Given the description of an element on the screen output the (x, y) to click on. 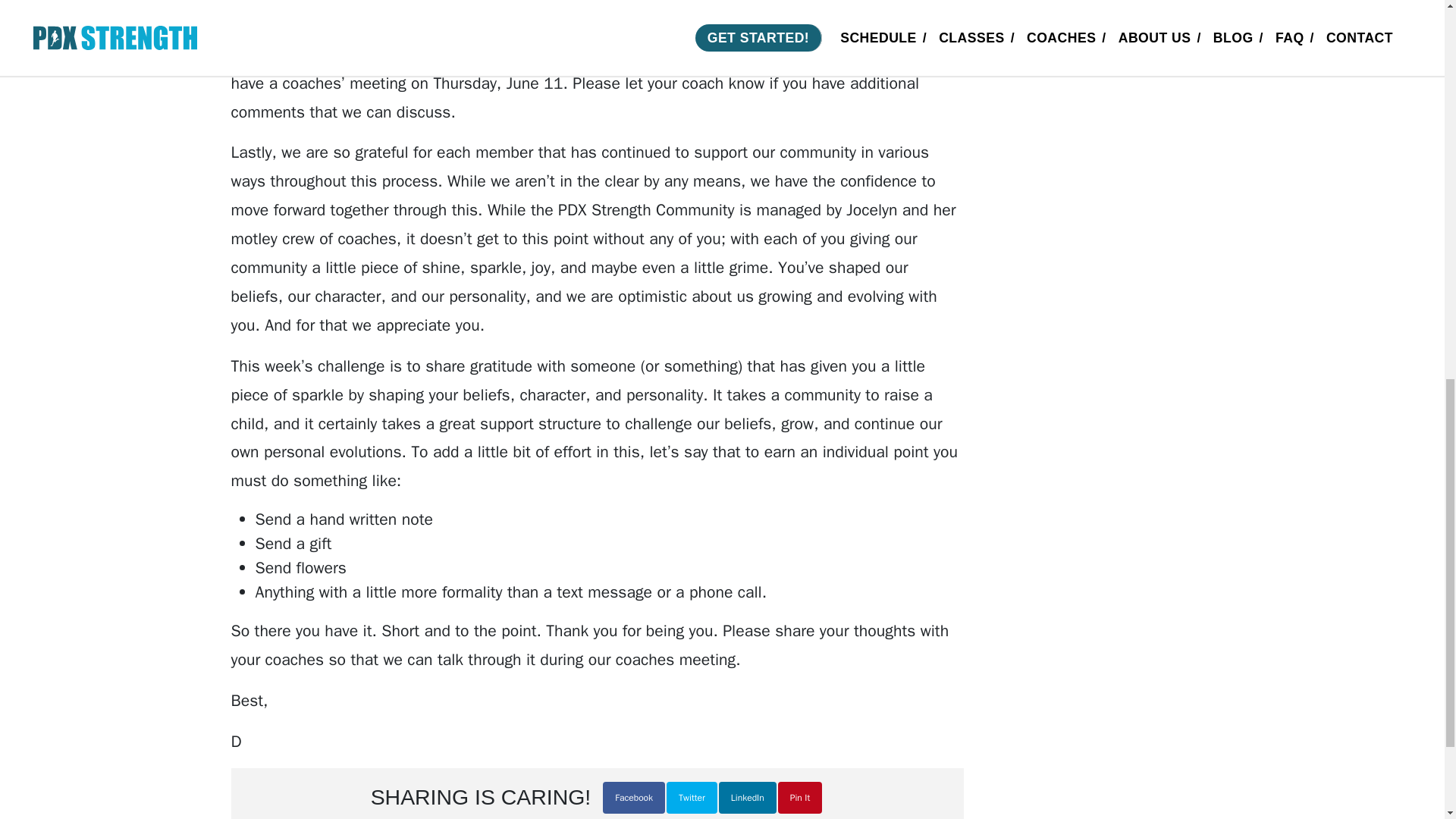
Facebook (633, 798)
Twitter (691, 798)
Pin It (799, 798)
LinkedIn (747, 798)
